Given the description of an element on the screen output the (x, y) to click on. 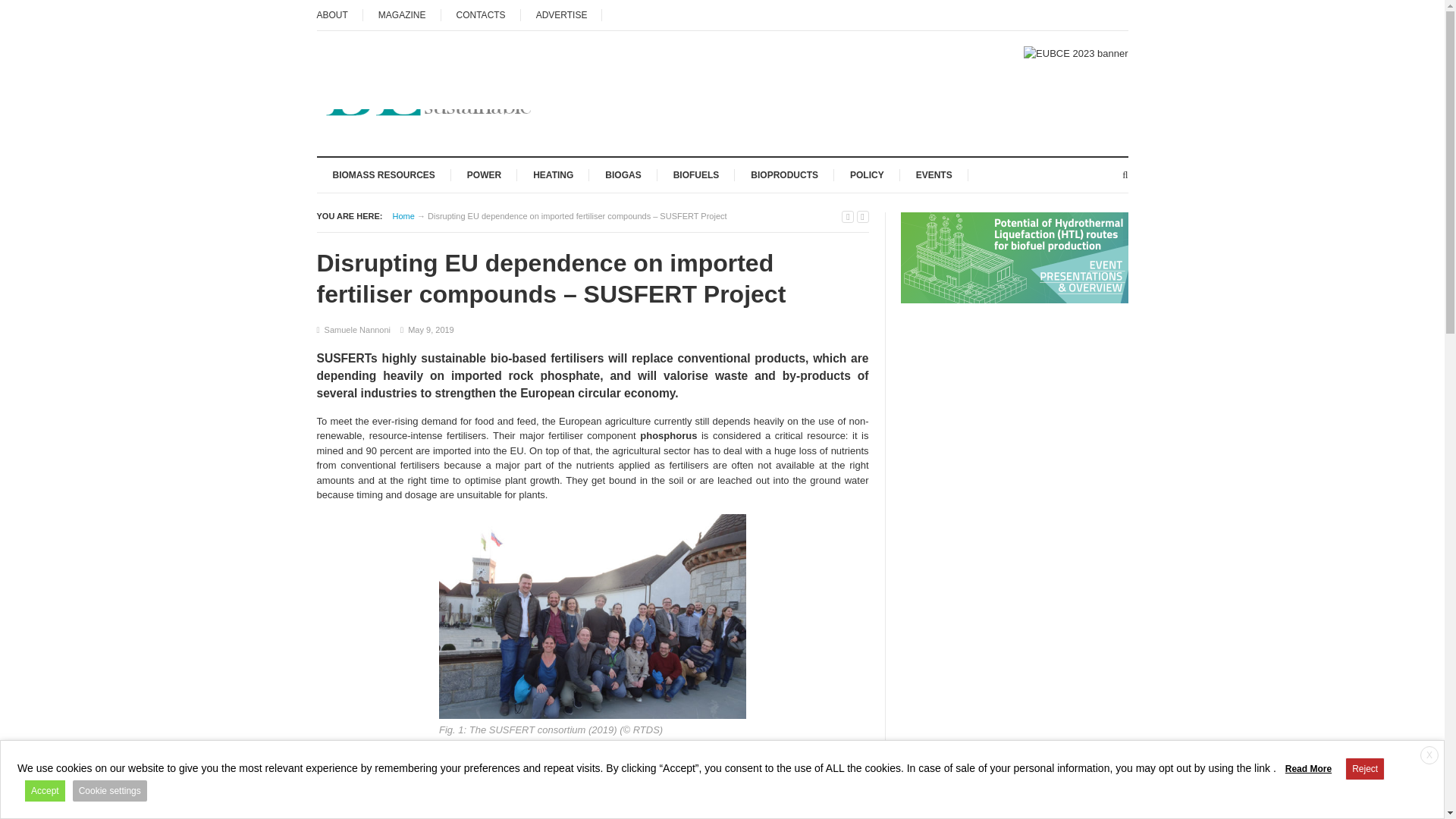
CONTACTS (481, 15)
ADVERTISE (561, 15)
BE Sustainable (403, 215)
Home (403, 215)
BIOFUELS (696, 175)
MAGAZINE (401, 15)
POWER (483, 175)
Samuele Nannoni (357, 329)
BIOMASS RESOURCES (383, 175)
HEATING (553, 175)
